Given the description of an element on the screen output the (x, y) to click on. 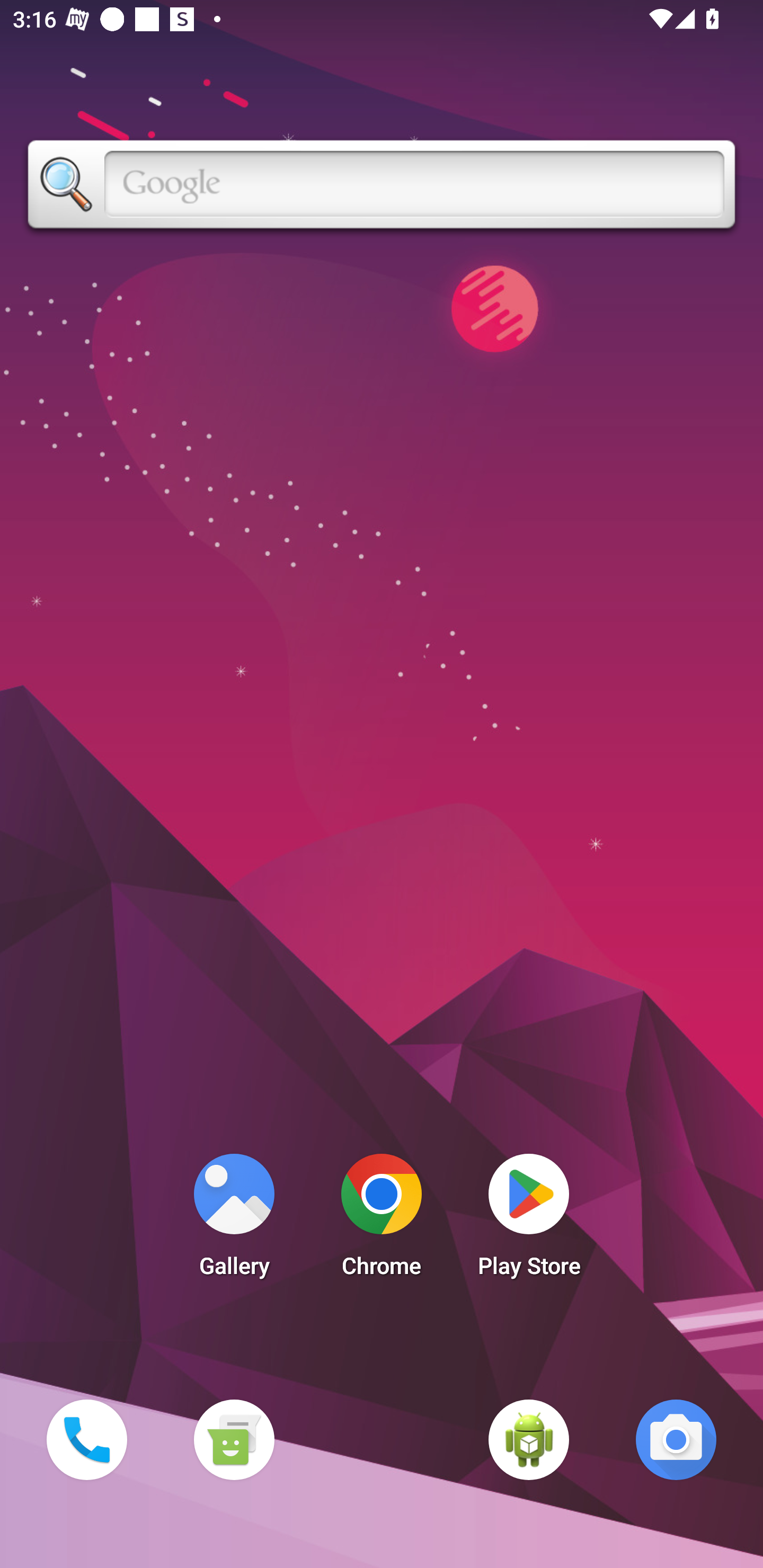
Gallery (233, 1220)
Chrome (381, 1220)
Play Store (528, 1220)
Phone (86, 1439)
Messaging (233, 1439)
WebView Browser Tester (528, 1439)
Camera (676, 1439)
